Given the description of an element on the screen output the (x, y) to click on. 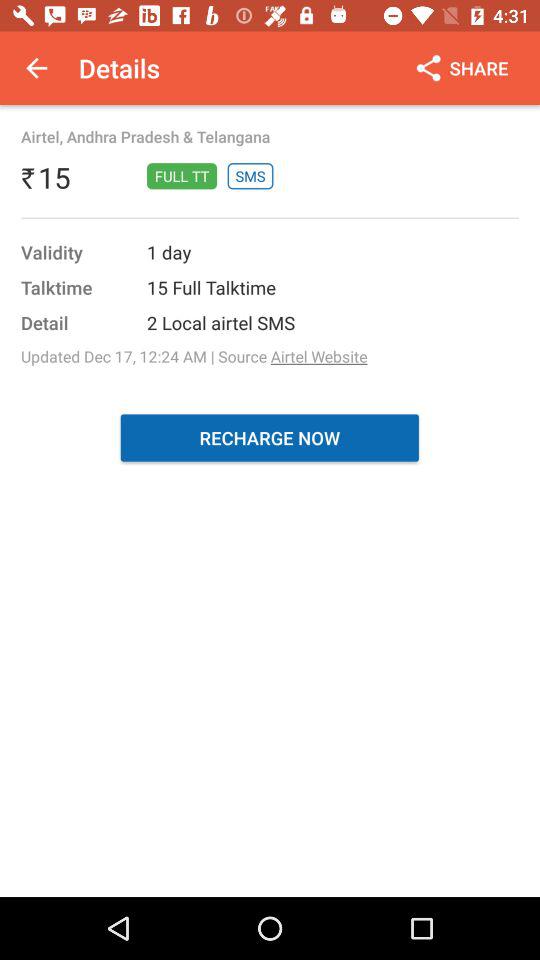
choose the updated dec 17 (194, 356)
